Given the description of an element on the screen output the (x, y) to click on. 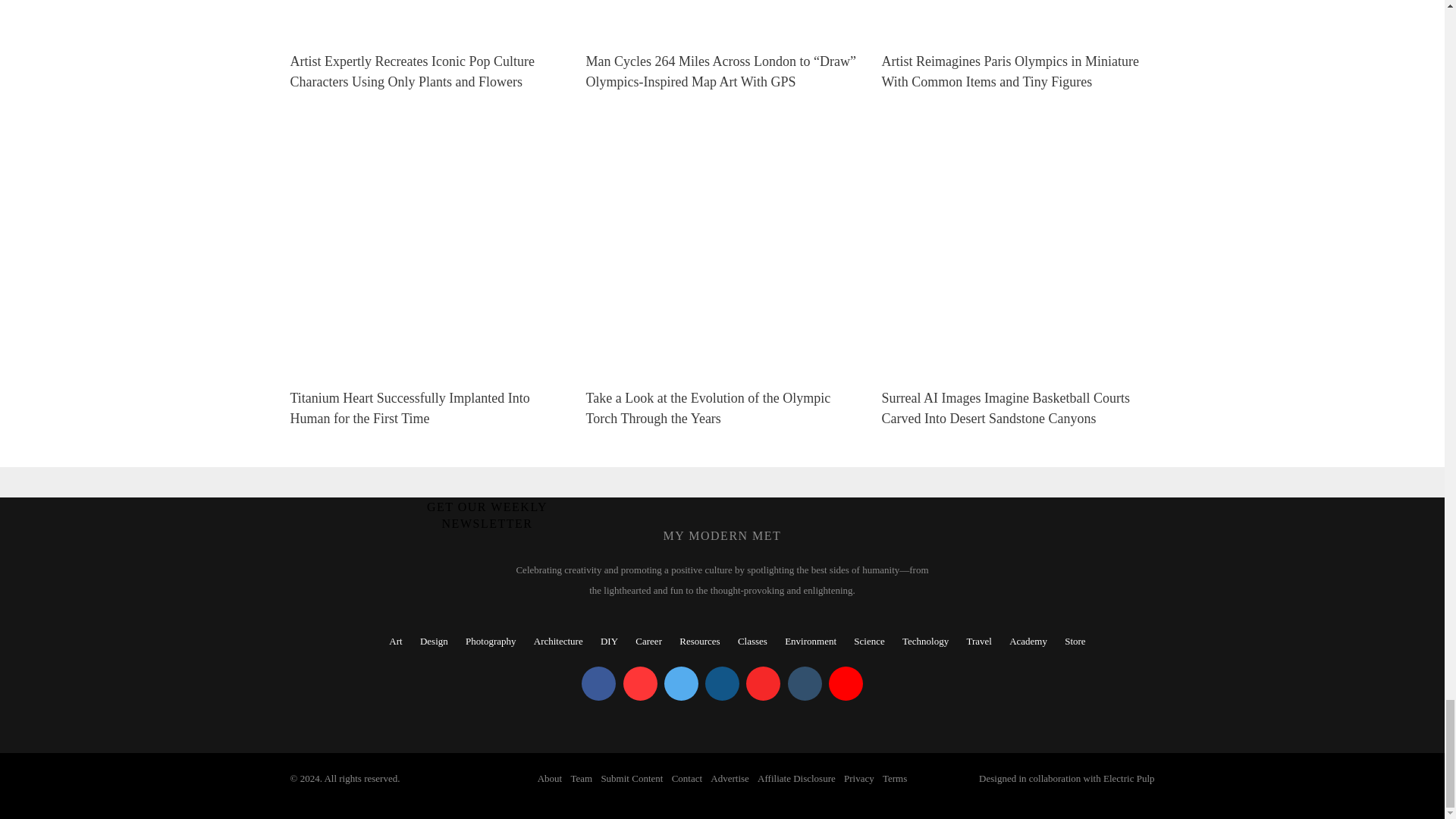
My Modern Met on Tumblr (804, 683)
My Modern Met on Facebook (597, 683)
My Modern Met on Instagram (721, 683)
My Modern Met on YouTube (845, 683)
My Modern Met on Pinterest (640, 683)
My Modern Met on Twitter (680, 683)
